Given the description of an element on the screen output the (x, y) to click on. 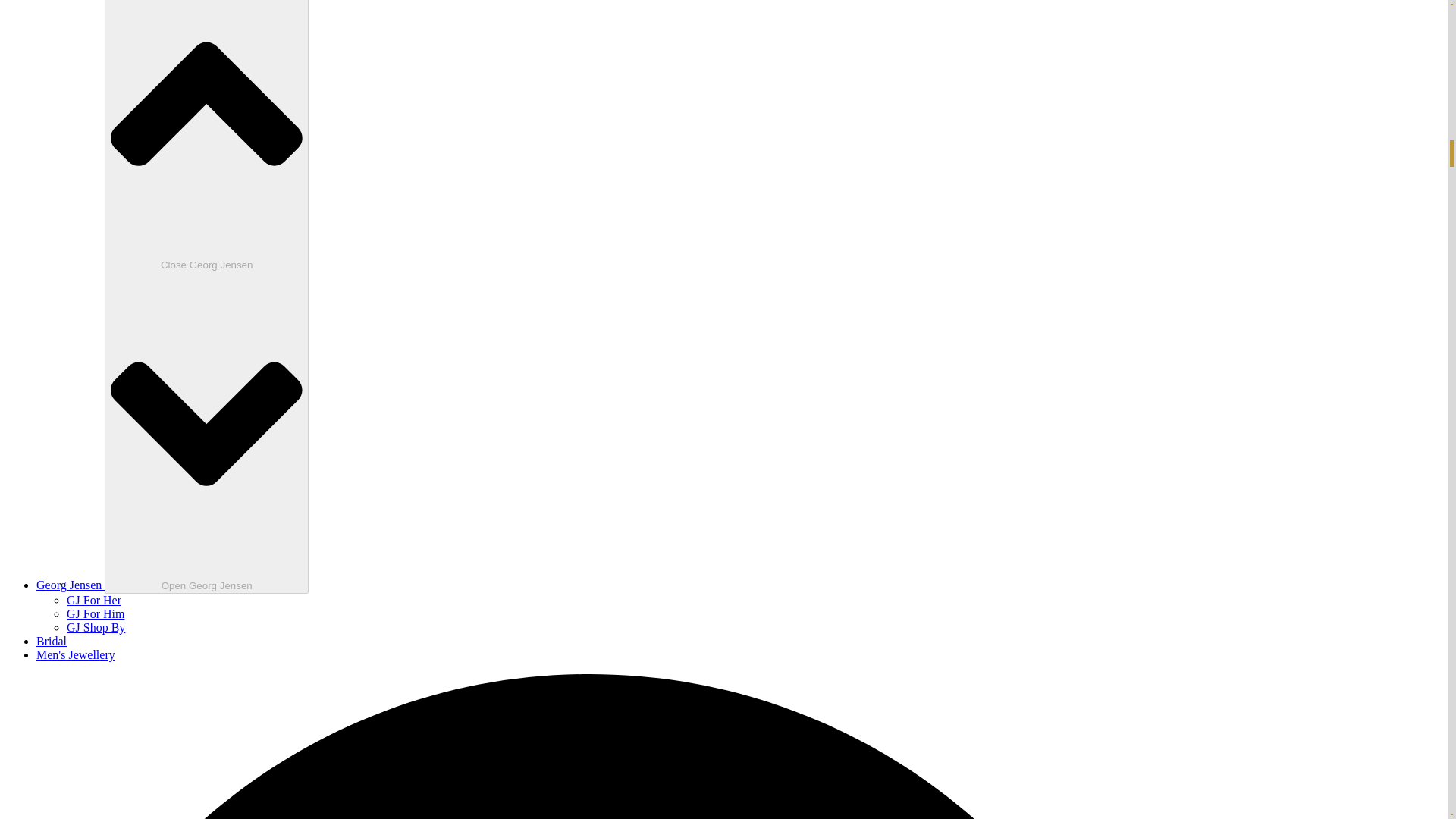
Georg Jensen (70, 584)
Men's Jewellery (75, 654)
Bridal (51, 640)
GJ Shop By (95, 626)
GJ For Her (93, 599)
GJ For Him (94, 613)
